Given the description of an element on the screen output the (x, y) to click on. 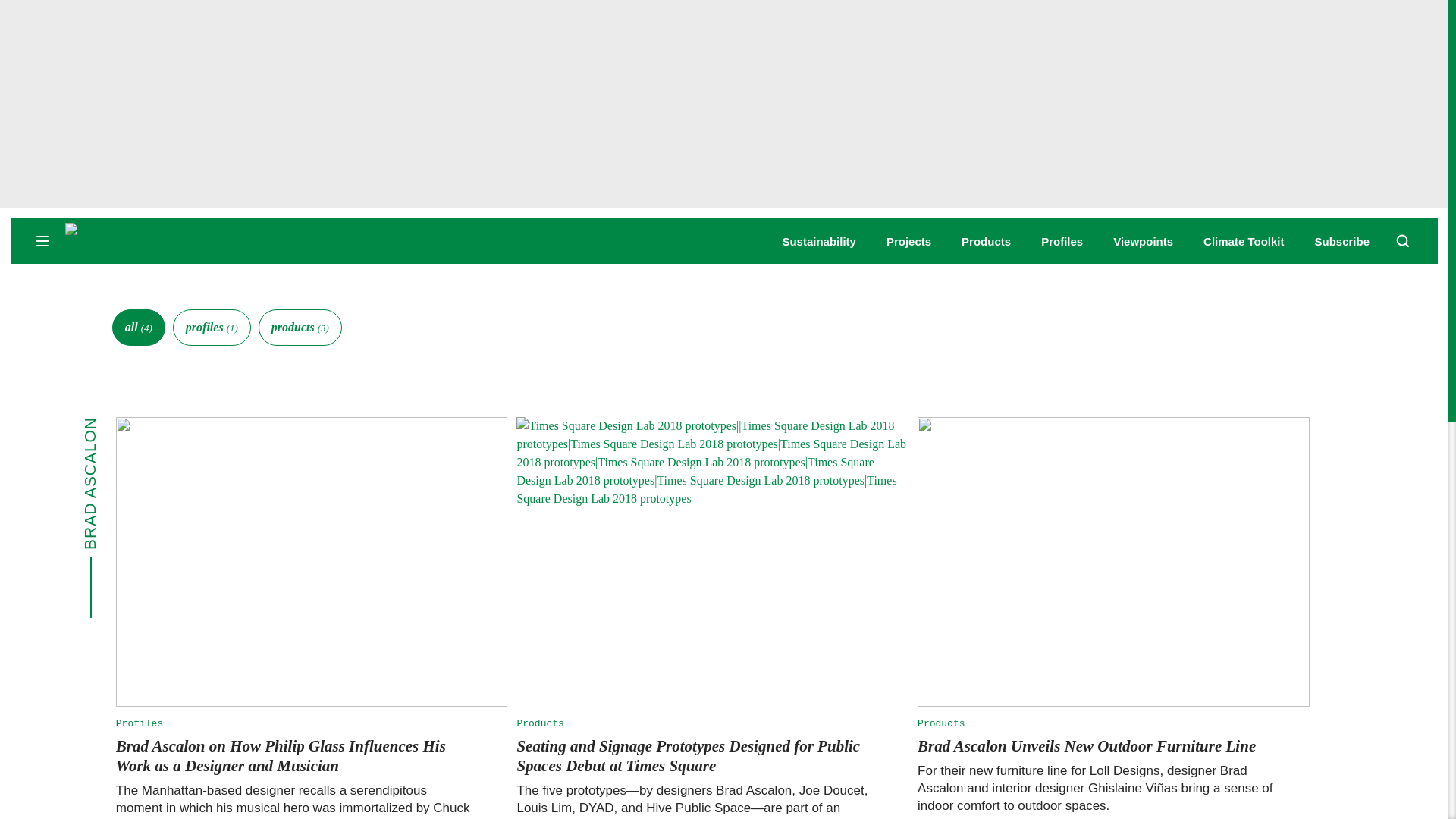
Viewpoints (1143, 241)
Profiles (1062, 241)
Products (985, 241)
METROPOLIS (181, 240)
Sustainability (818, 241)
Subscribe (1342, 241)
Climate Toolkit (1244, 241)
Projects (908, 241)
